Given the description of an element on the screen output the (x, y) to click on. 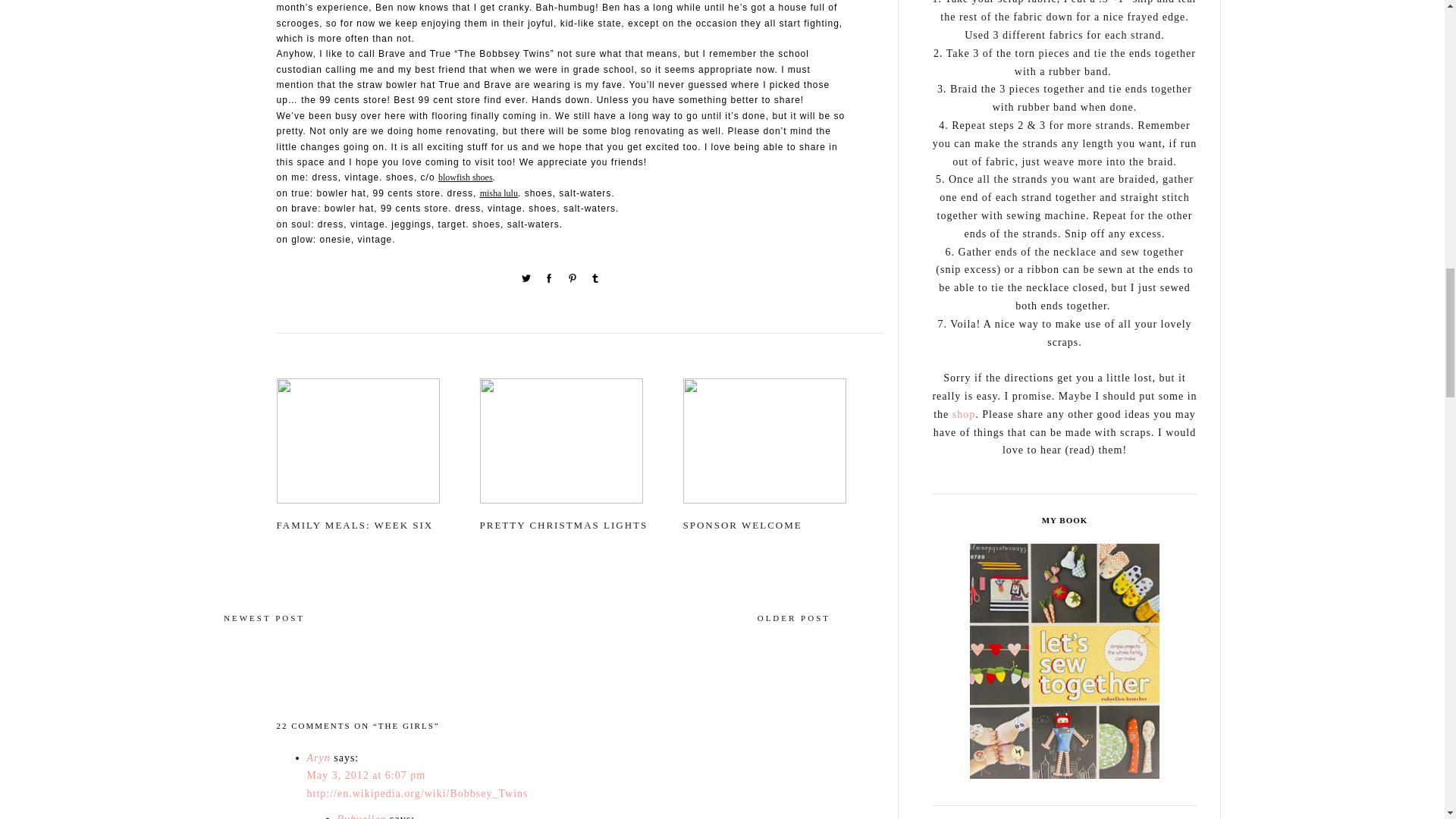
May 3, 2012 at 6:07 pm (365, 775)
NEWEST POST (264, 631)
Share This On Pinterest (573, 280)
SPONSOR WELCOME (782, 445)
misha lulu (499, 193)
Aryn (317, 757)
Share This On Facebook (550, 280)
Rubyellen (360, 816)
FAMILY MEALS: WEEK SIX (376, 445)
Tweet This (527, 280)
blowfish shoes (465, 176)
PRETTY CHRISTMAS LIGHTS (579, 445)
